Given the description of an element on the screen output the (x, y) to click on. 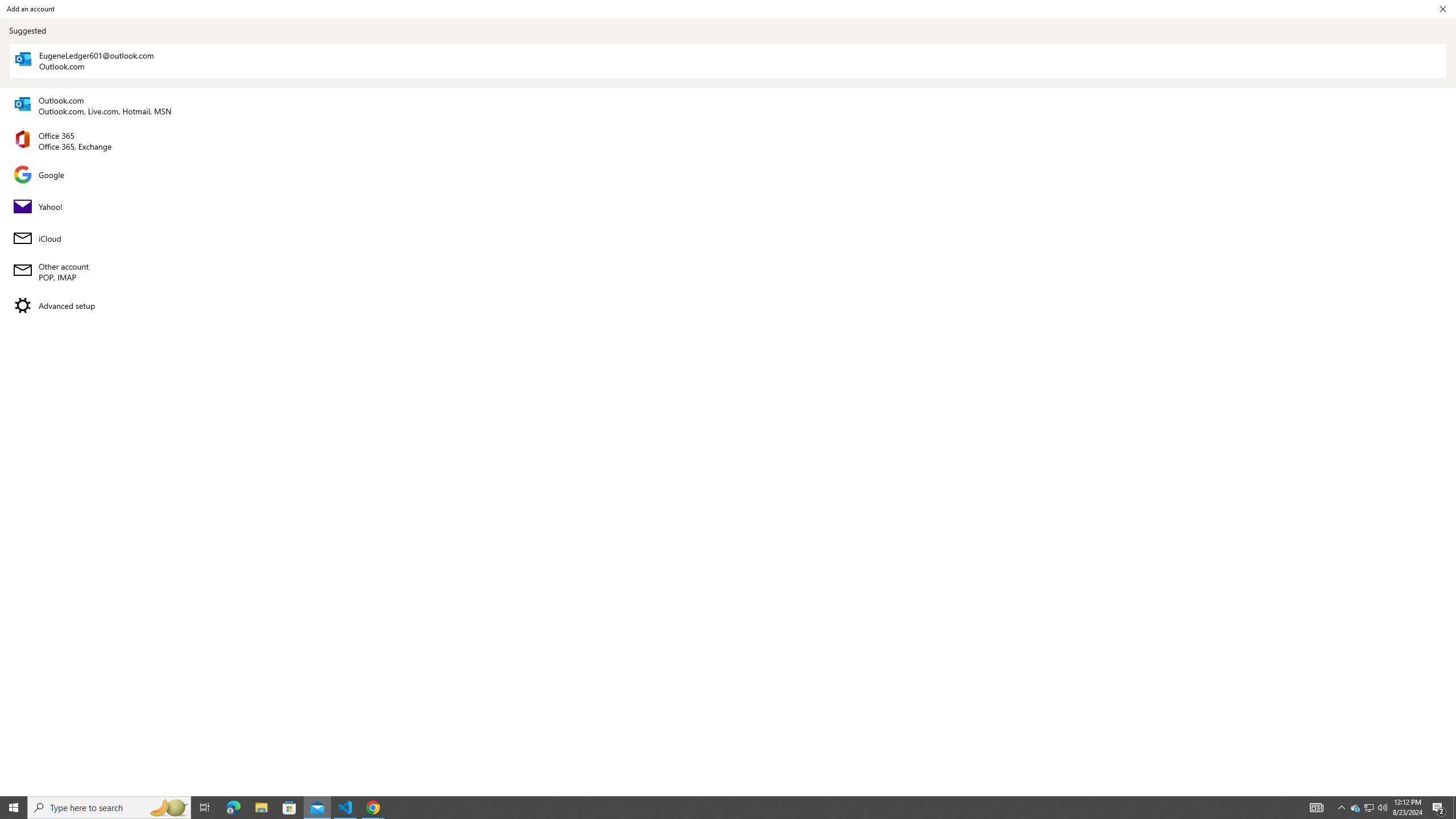
Close Add an account (728, 140)
